Given the description of an element on the screen output the (x, y) to click on. 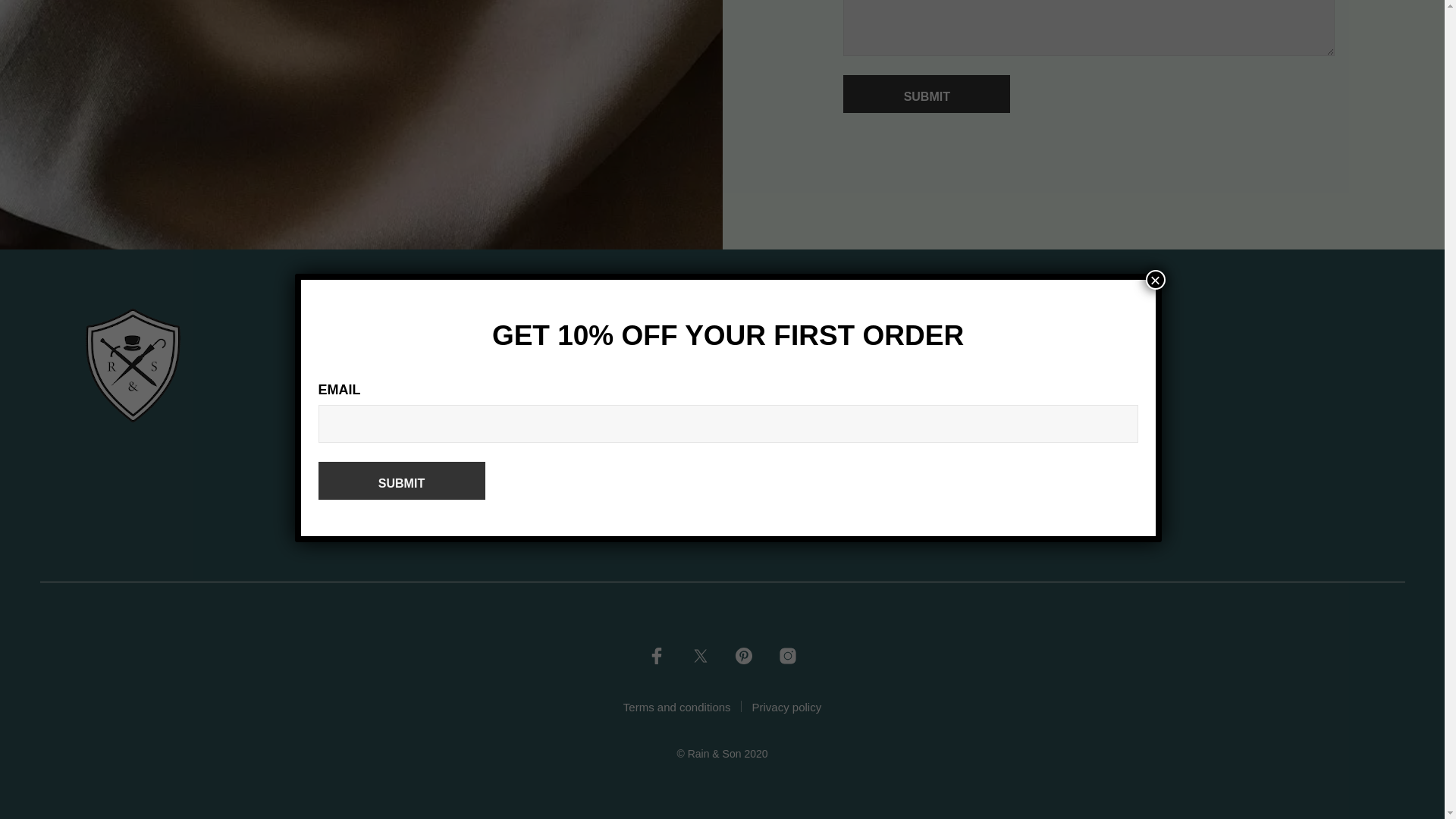
Submit (926, 94)
Submit (926, 94)
